Given the description of an element on the screen output the (x, y) to click on. 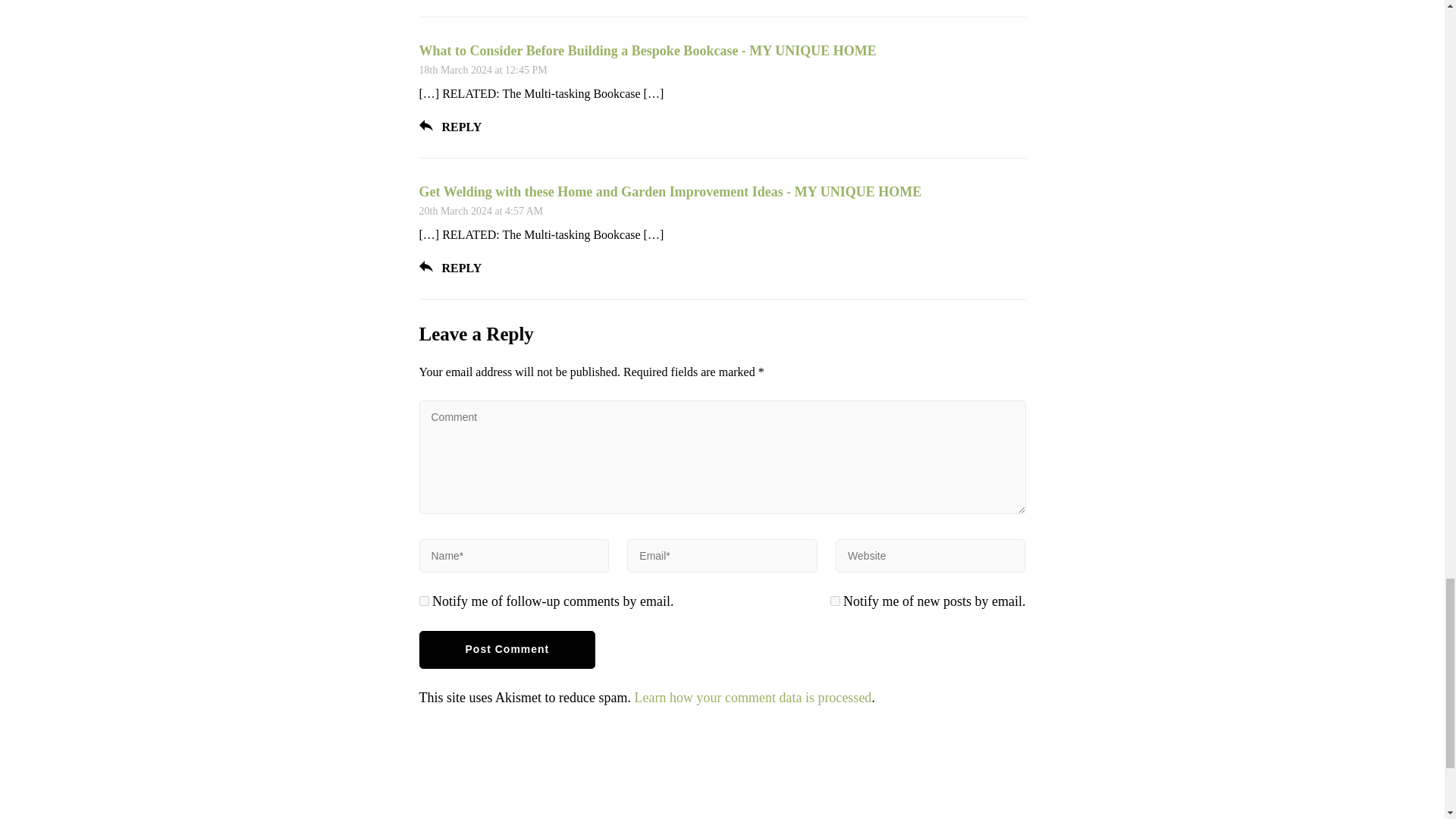
subscribe (834, 601)
Post Comment (507, 649)
subscribe (423, 601)
